Given the description of an element on the screen output the (x, y) to click on. 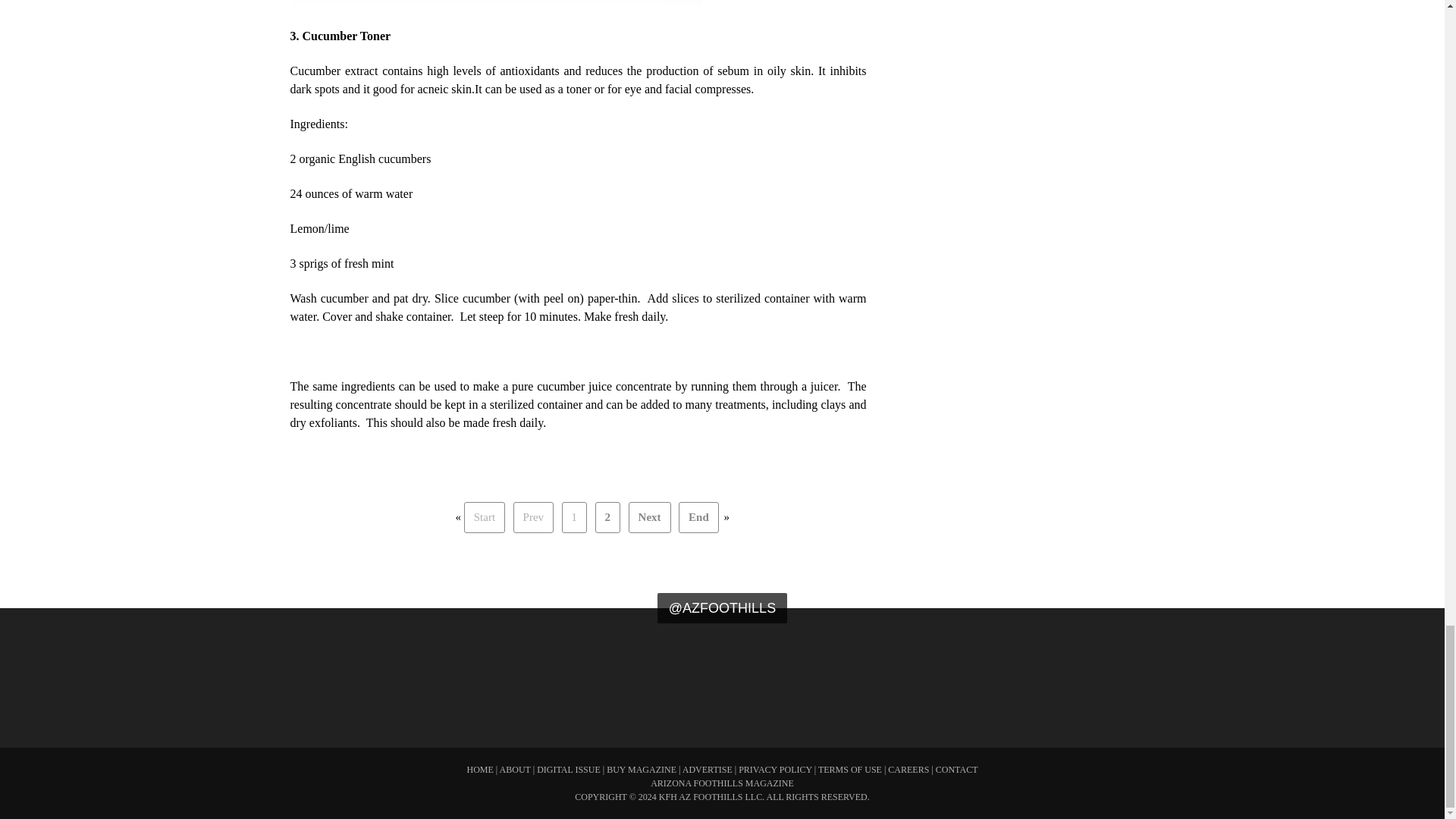
End (698, 517)
Next (649, 517)
